Given the description of an element on the screen output the (x, y) to click on. 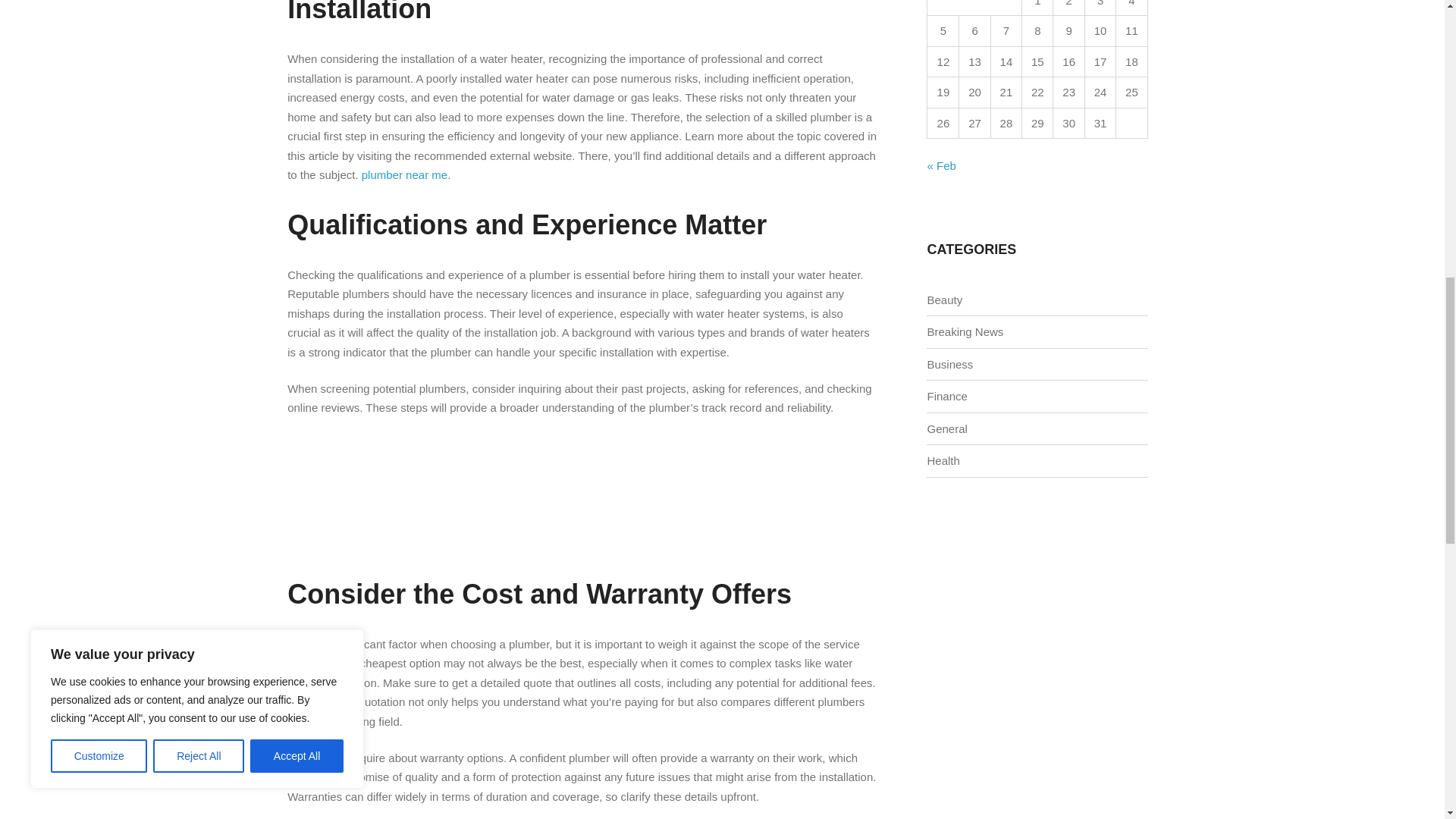
plumber near me (403, 174)
